Given the description of an element on the screen output the (x, y) to click on. 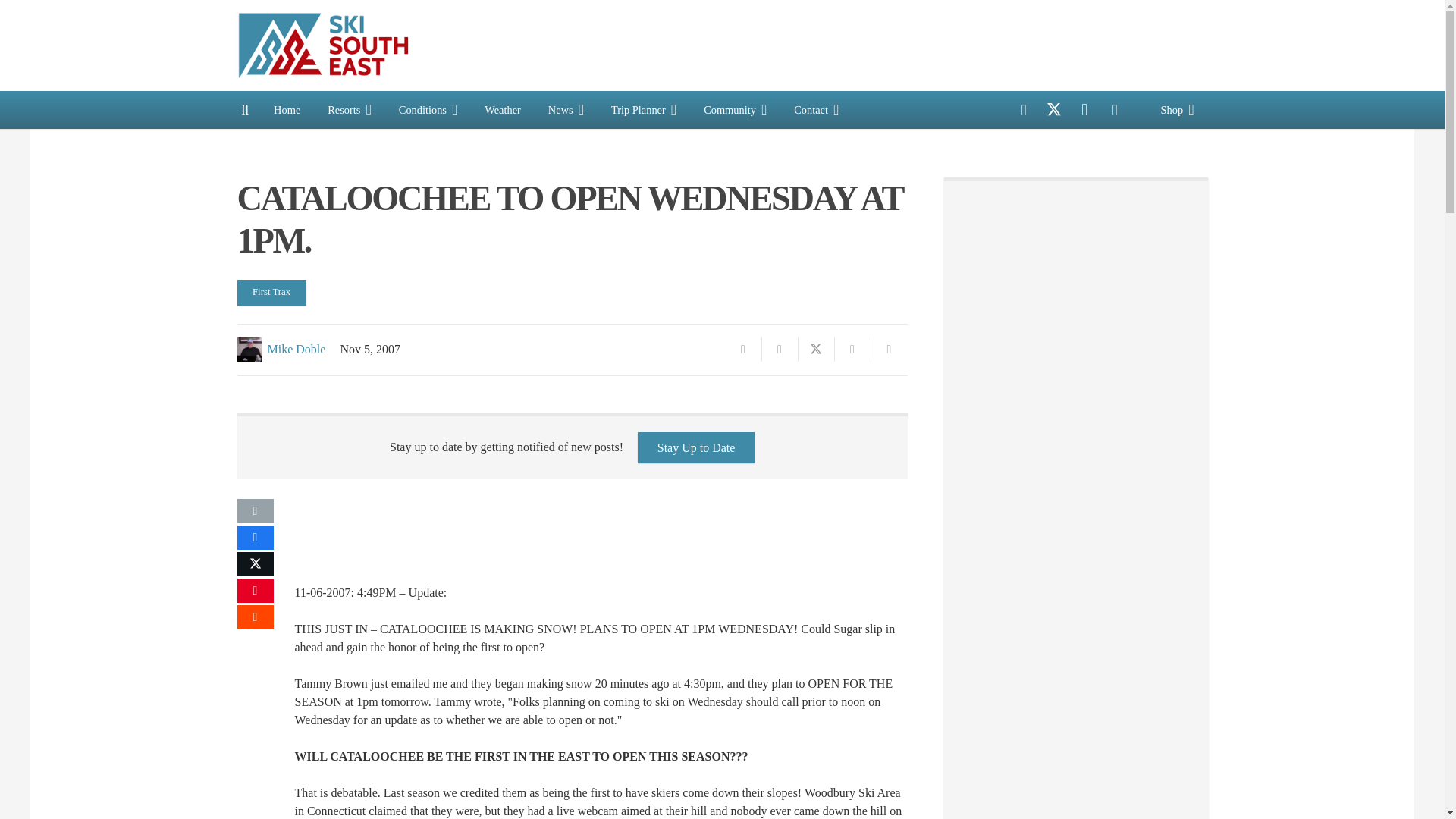
Share this (254, 617)
Facebook (1024, 110)
3rd party ad content (932, 45)
Discord (1114, 110)
Conditions (428, 109)
Resorts (349, 109)
Pin this (254, 590)
Tweet this (815, 349)
Share this (779, 349)
Twitter (1053, 110)
Instagram (1083, 110)
Email this (743, 349)
Pin this (852, 349)
Share this (254, 537)
Tweet this (254, 564)
